Given the description of an element on the screen output the (x, y) to click on. 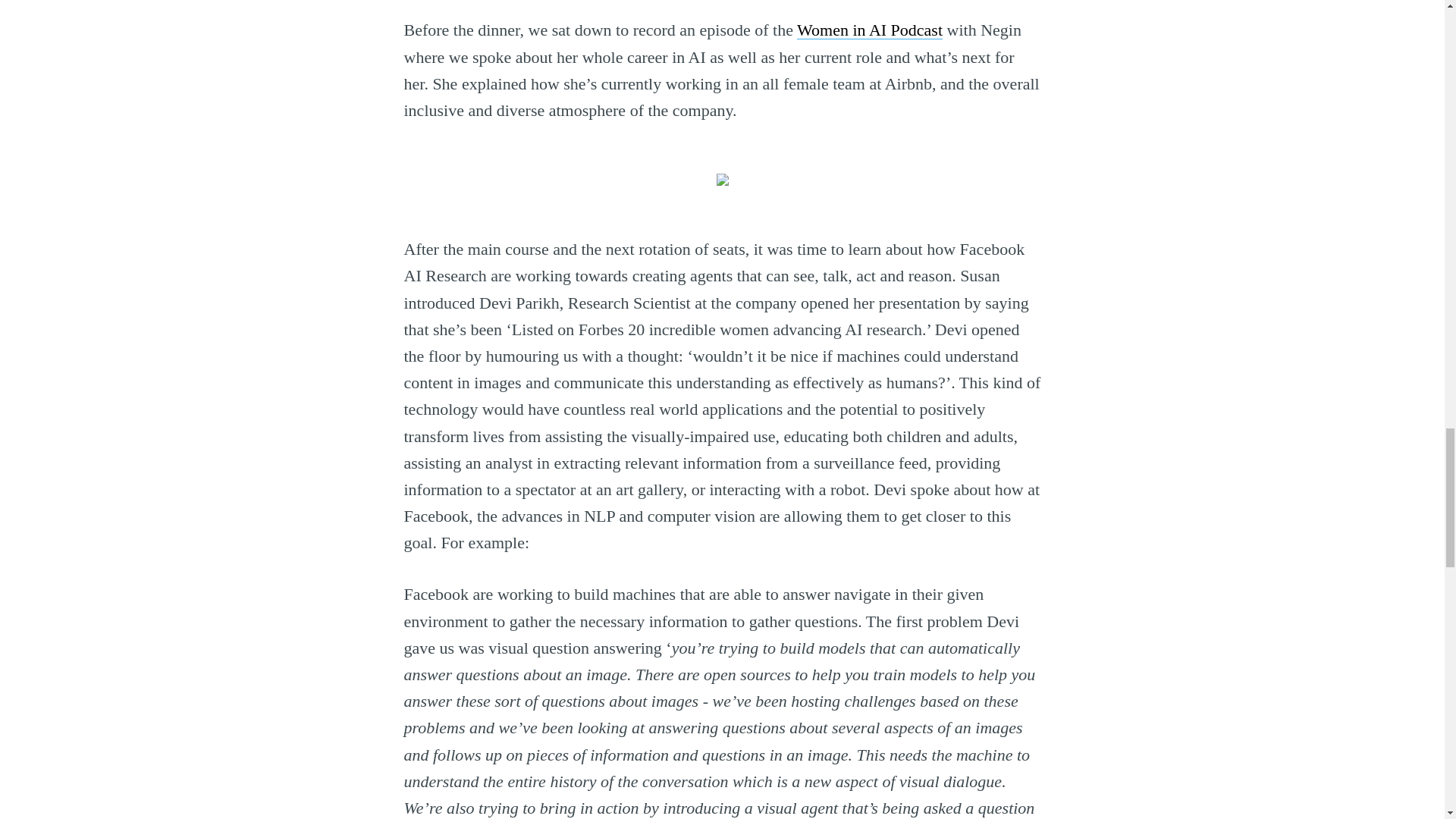
Women in AI Podcast (869, 29)
